Given the description of an element on the screen output the (x, y) to click on. 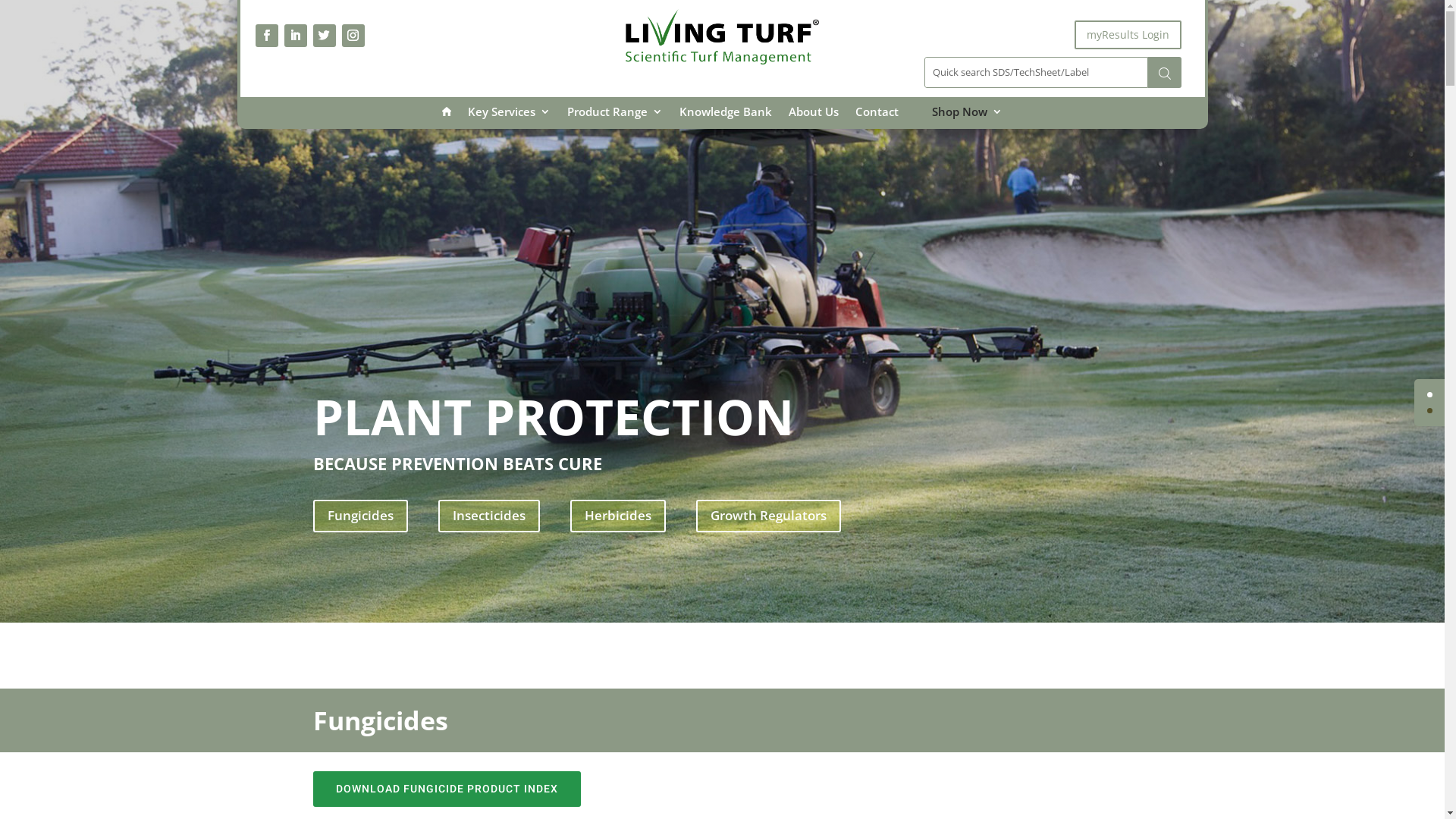
Knowledge Bank Element type: text (725, 120)
Insecticides Element type: text (488, 515)
Product Range Element type: text (614, 120)
Search Element type: text (1164, 71)
1 Element type: text (1429, 410)
0 Element type: text (1429, 394)
Key Services Element type: text (508, 120)
Shop Now Element type: text (966, 120)
Follow on Twitter Element type: hover (323, 35)
Follow on Facebook Element type: hover (265, 35)
LivingTurf_RGB+Tag_Stacked Element type: hover (721, 36)
Fungicides Element type: text (359, 515)
Growth Regulators Element type: text (768, 515)
About Us Element type: text (813, 120)
Follow on Instagram Element type: hover (352, 35)
DOWNLOAD FUNGICIDE PRODUCT INDEX Element type: text (446, 788)
Contact Element type: text (876, 120)
myResults Login Element type: text (1127, 34)
Follow on LinkedIn Element type: hover (294, 35)
Herbicides Element type: text (617, 515)
